Given the description of an element on the screen output the (x, y) to click on. 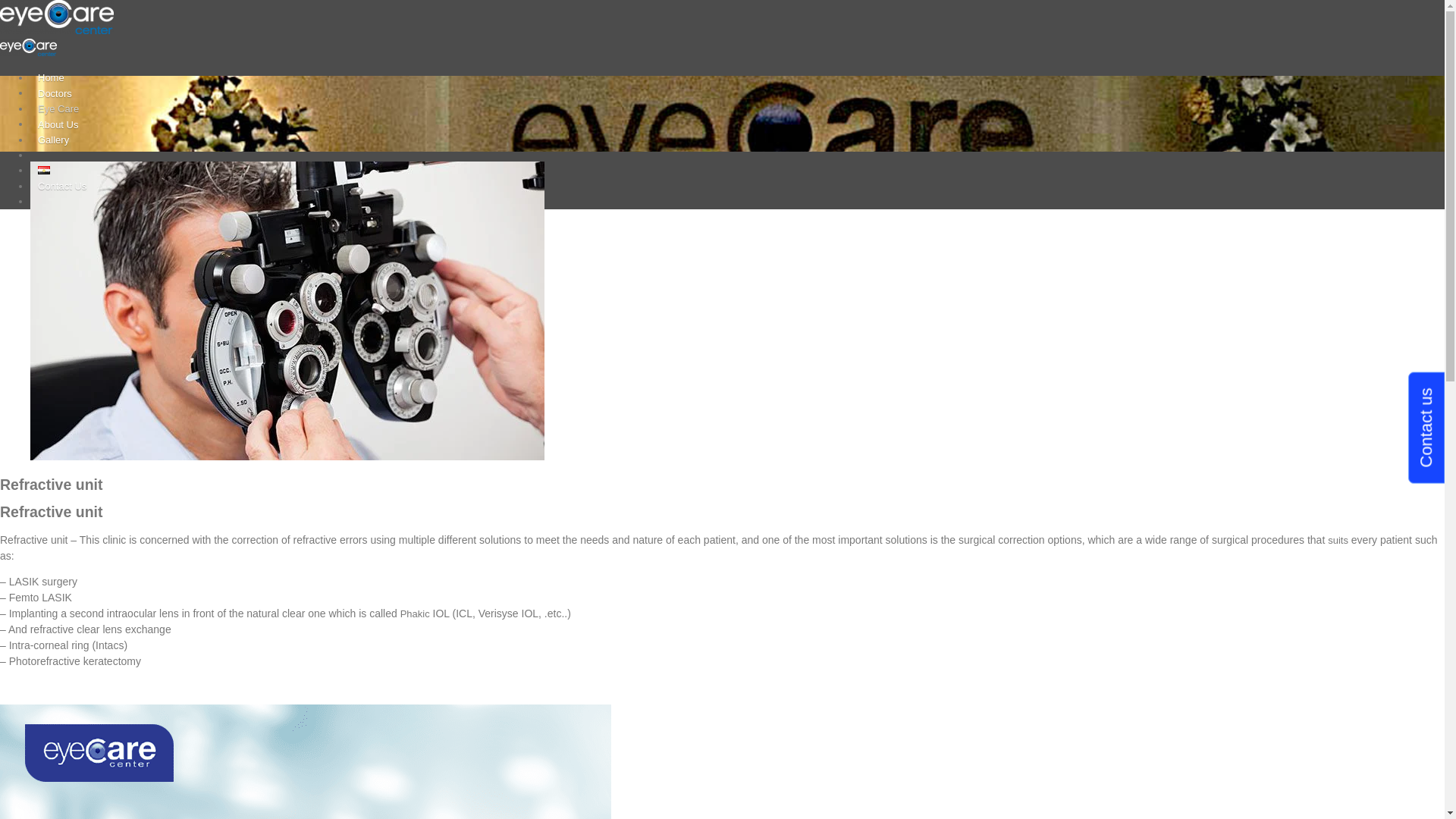
Home (50, 76)
Contact Us (62, 185)
About Us (57, 123)
Doctors (55, 92)
Gallery (53, 139)
Eye Care Center (56, 41)
Join us on Facebook (37, 154)
Eye Care (57, 108)
Refractive unit (287, 456)
